Given the description of an element on the screen output the (x, y) to click on. 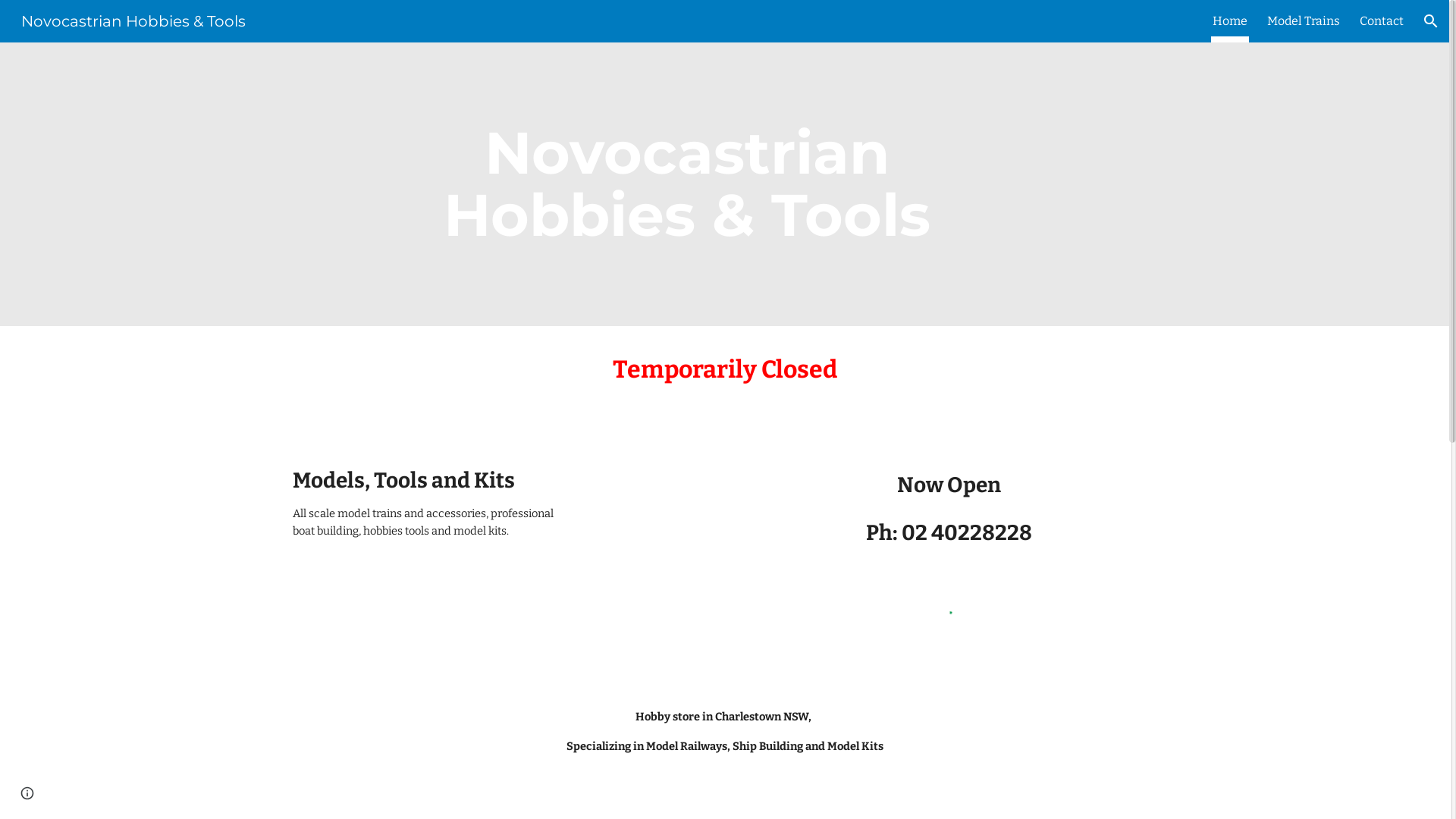
Contact Element type: text (1381, 20)
Model Trains Element type: text (1303, 20)
Novocastrian Hobbies & Tools Element type: text (133, 19)
Custom embed Element type: hover (948, 621)
Home Element type: text (1229, 20)
